Given the description of an element on the screen output the (x, y) to click on. 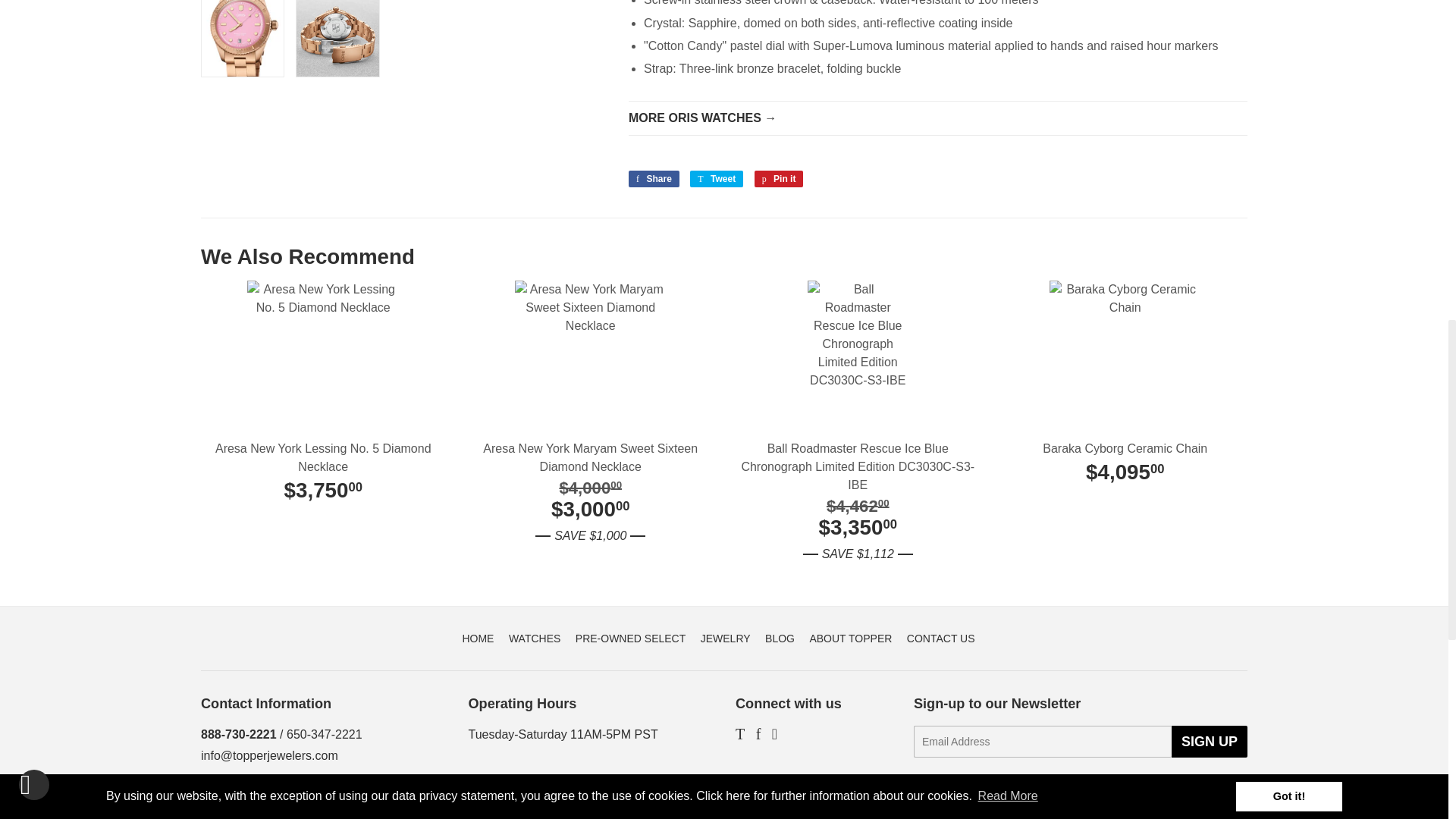
Tweet on Twitter (716, 178)
Share on Facebook (653, 178)
Pin on Pinterest (778, 178)
